Given the description of an element on the screen output the (x, y) to click on. 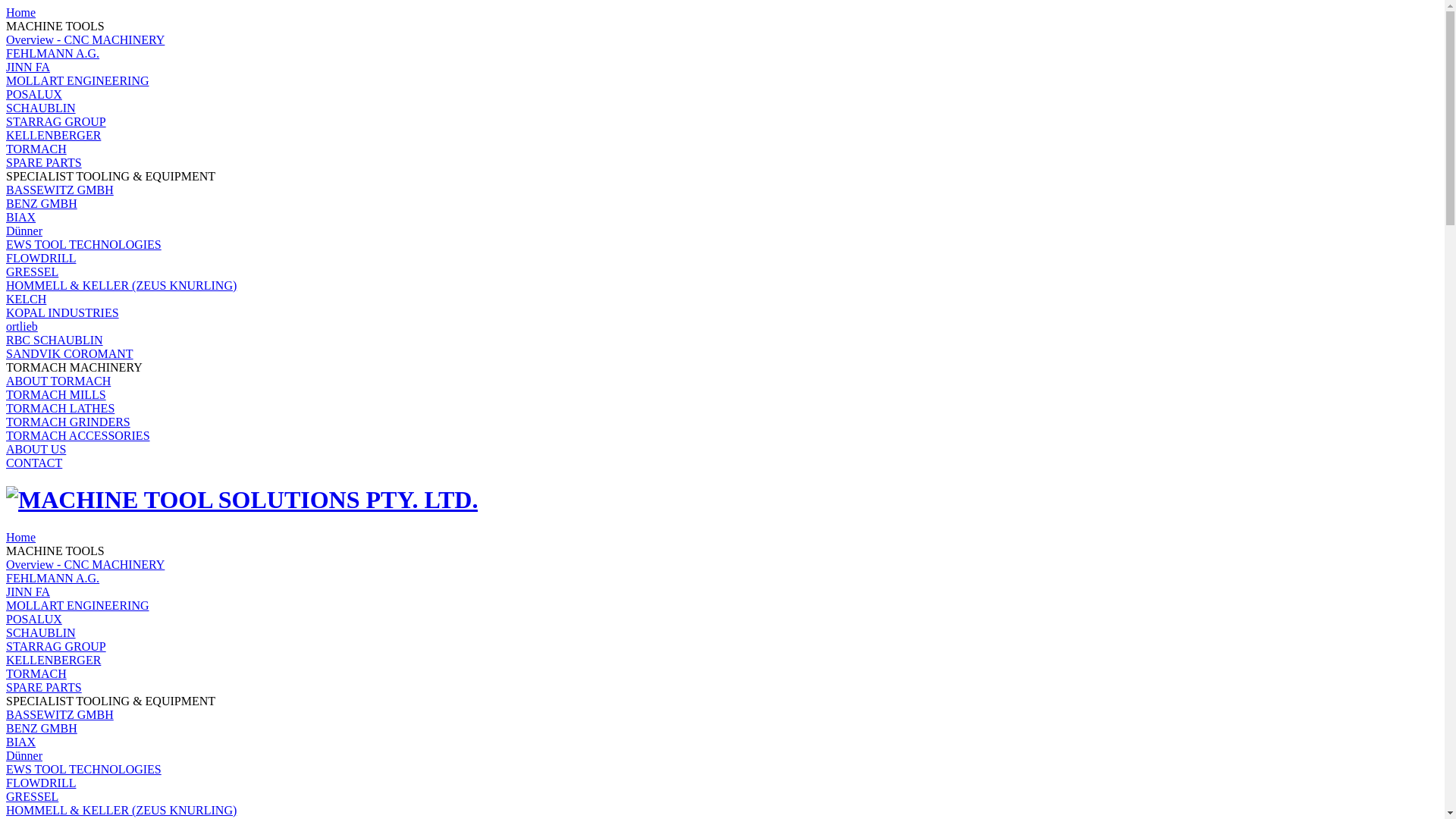
RBC SCHAUBLIN Element type: text (54, 339)
SANDVIK COROMANT Element type: text (69, 353)
BENZ GMBH Element type: text (41, 203)
KELLENBERGER Element type: text (53, 659)
FLOWDRILL Element type: text (40, 782)
ABOUT TORMACH Element type: text (58, 380)
TORMACH GRINDERS Element type: text (68, 421)
Home Element type: text (20, 12)
SCHAUBLIN Element type: text (40, 632)
TORMACH LATHES Element type: text (60, 407)
SPARE PARTS Element type: text (43, 162)
SPARE PARTS Element type: text (43, 686)
BASSEWITZ GMBH Element type: text (59, 189)
BIAX Element type: text (20, 741)
Home Element type: text (20, 536)
MOLLART ENGINEERING Element type: text (77, 605)
ABOUT US Element type: text (35, 448)
BENZ GMBH Element type: text (41, 727)
TORMACH Element type: text (36, 673)
FEHLMANN A.G. Element type: text (52, 53)
STARRAG GROUP Element type: text (56, 121)
STARRAG GROUP Element type: text (56, 646)
TORMACH MILLS Element type: text (56, 394)
KELCH Element type: text (26, 298)
KELLENBERGER Element type: text (53, 134)
JINN FA Element type: text (28, 591)
CONTACT Element type: text (34, 462)
GRESSEL Element type: text (32, 796)
Overview - CNC MACHINERY Element type: text (85, 39)
TORMACH Element type: text (36, 148)
JINN FA Element type: text (28, 66)
ortlieb Element type: text (21, 326)
KOPAL INDUSTRIES Element type: text (62, 312)
BIAX Element type: text (20, 216)
FEHLMANN A.G. Element type: text (52, 577)
TORMACH ACCESSORIES Element type: text (78, 435)
GRESSEL Element type: text (32, 271)
HOMMELL & KELLER (ZEUS KNURLING) Element type: text (121, 809)
SCHAUBLIN Element type: text (40, 107)
HOMMELL & KELLER (ZEUS KNURLING) Element type: text (121, 285)
Overview - CNC MACHINERY Element type: text (85, 564)
POSALUX Element type: text (34, 618)
EWS TOOL TECHNOLOGIES Element type: text (83, 244)
MOLLART ENGINEERING Element type: text (77, 80)
EWS TOOL TECHNOLOGIES Element type: text (83, 768)
FLOWDRILL Element type: text (40, 257)
POSALUX Element type: text (34, 93)
BASSEWITZ GMBH Element type: text (59, 714)
